Given the description of an element on the screen output the (x, y) to click on. 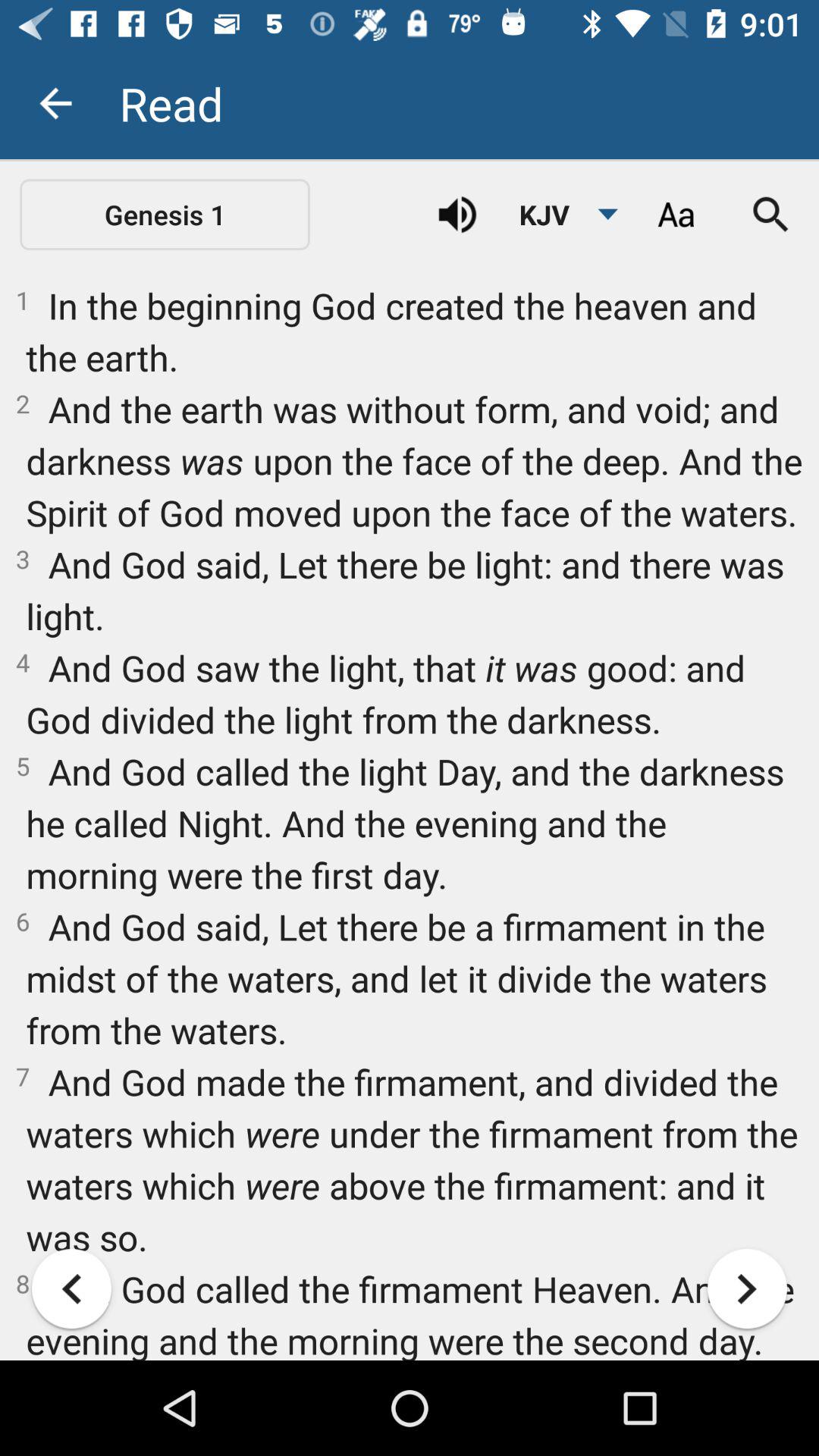
turn off icon above 1 in the icon (457, 214)
